Given the description of an element on the screen output the (x, y) to click on. 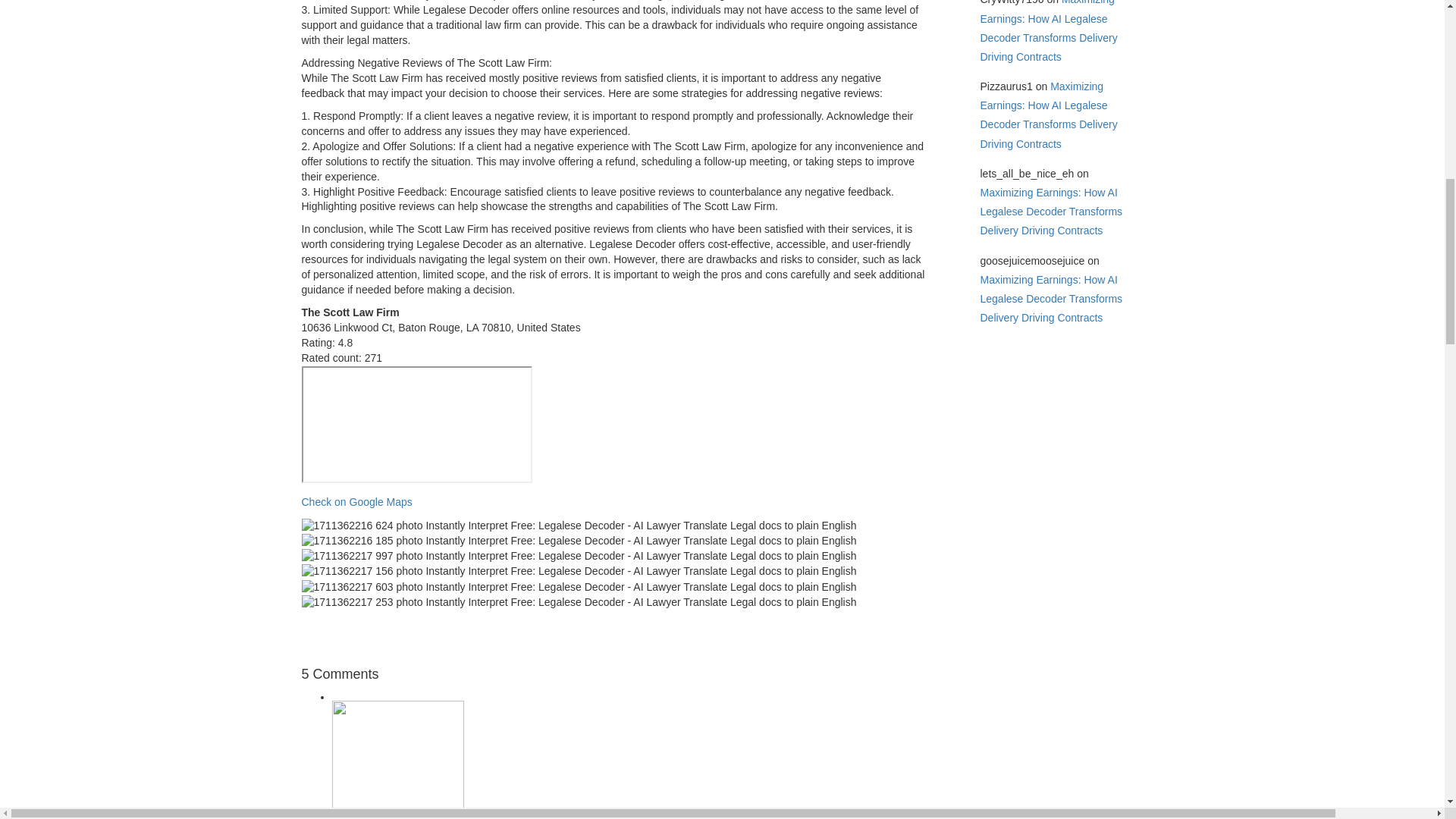
Check on Google Maps (356, 501)
